Given the description of an element on the screen output the (x, y) to click on. 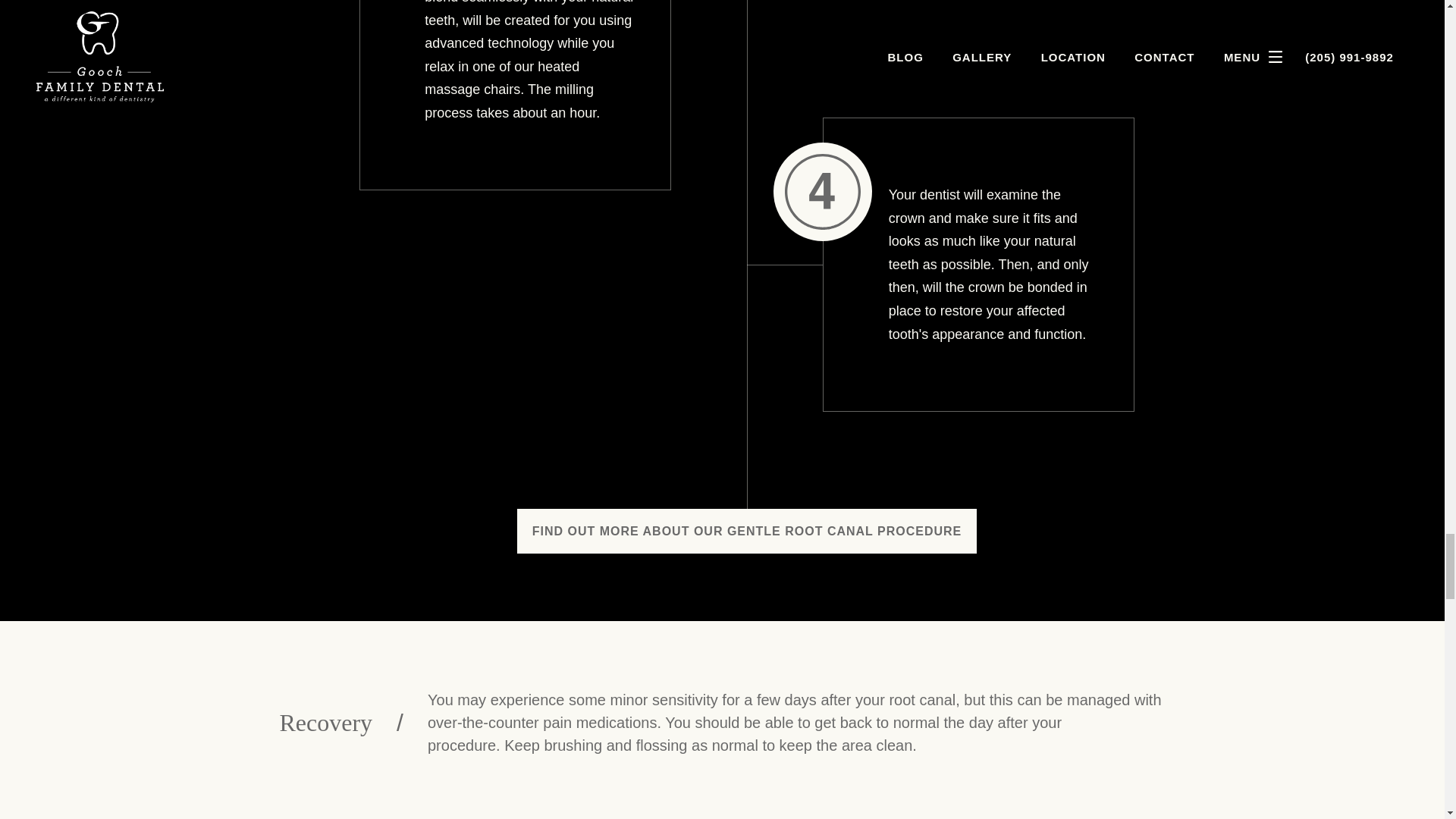
FIND OUT MORE ABOUT OUR GENTLE ROOT CANAL PROCEDURE (746, 530)
